Given the description of an element on the screen output the (x, y) to click on. 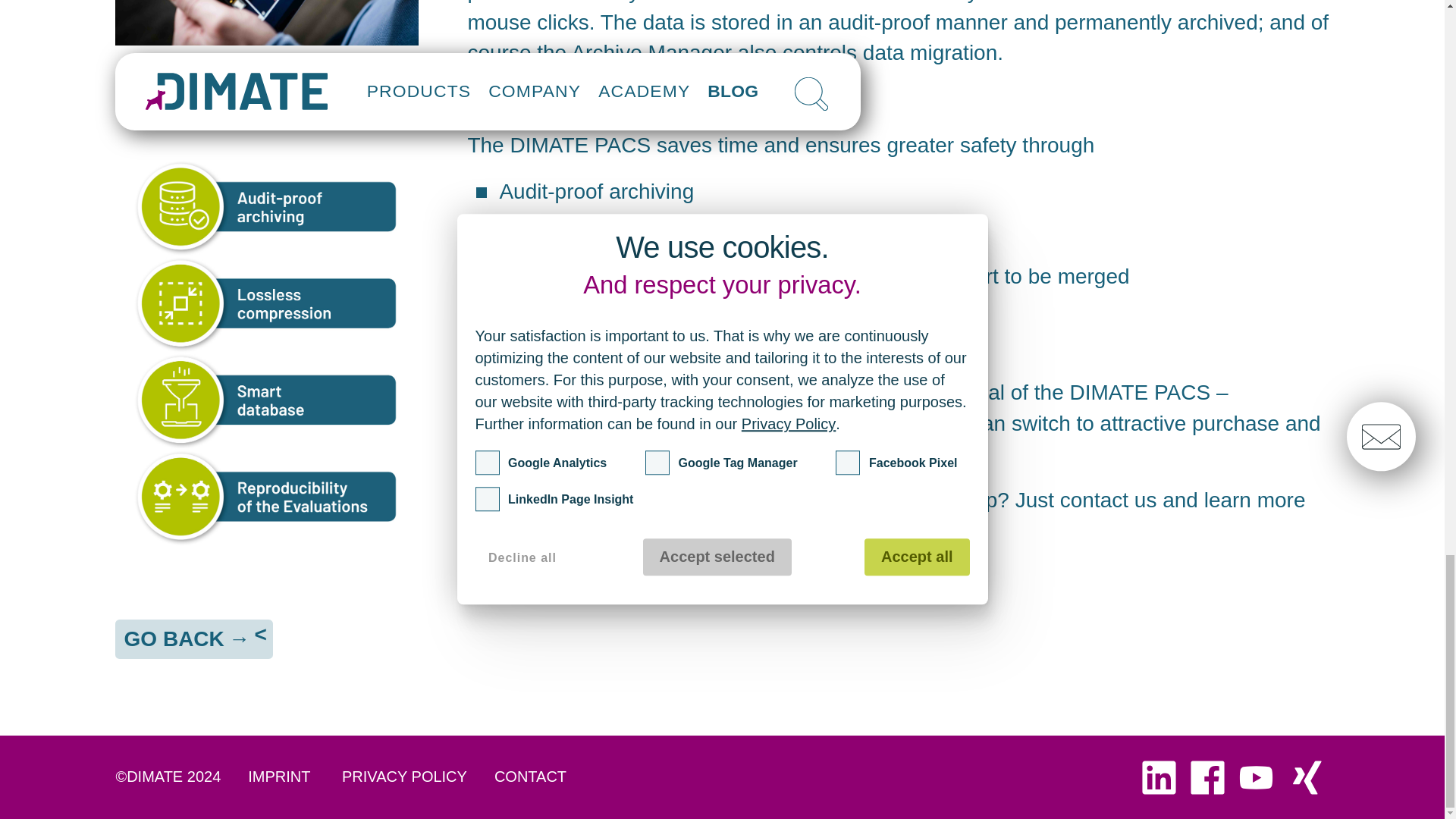
GO BACK (194, 639)
IMPRINT (278, 776)
PRIVACY POLICY (404, 776)
